Given the description of an element on the screen output the (x, y) to click on. 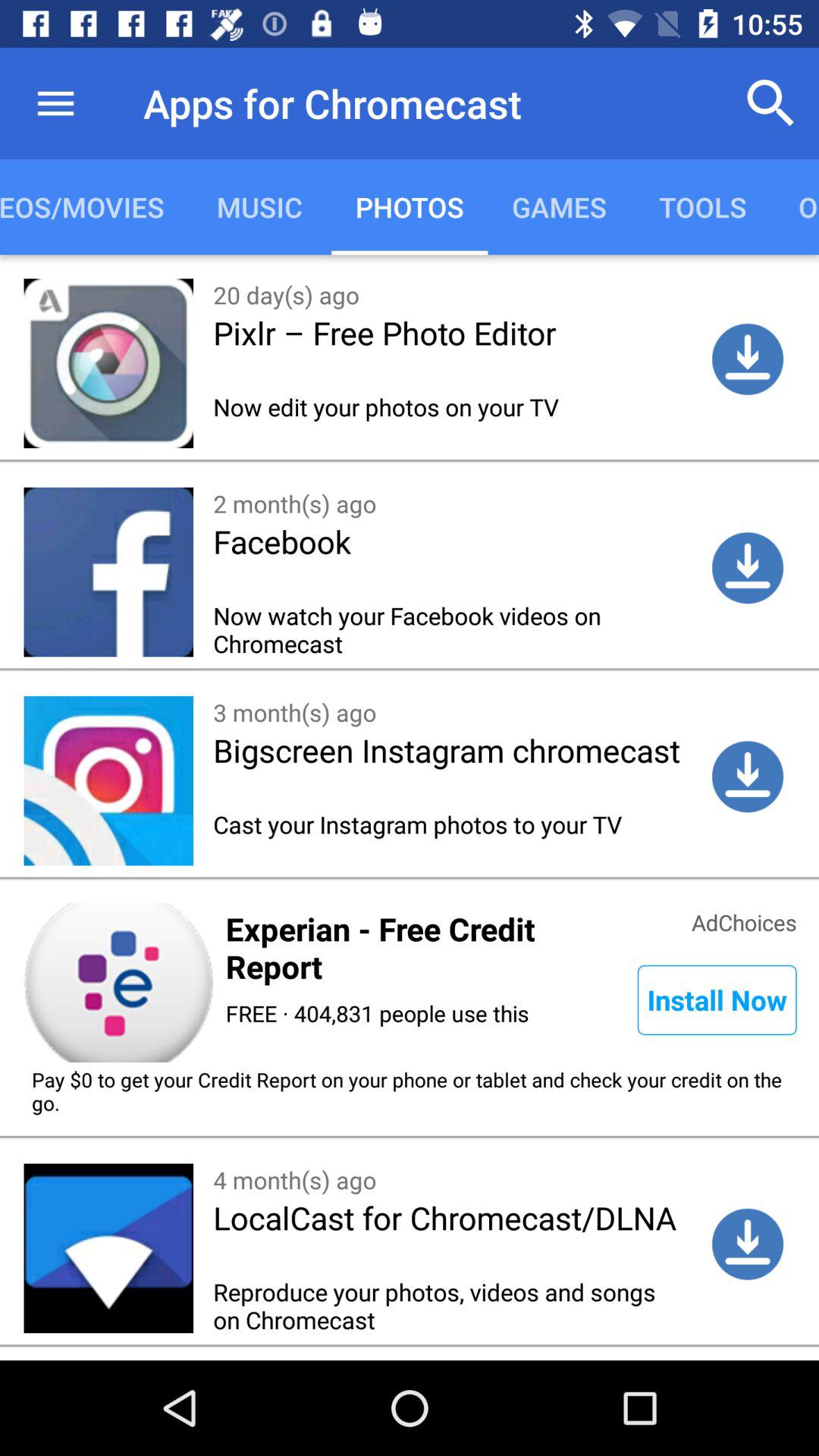
select the icon above videos/movies item (55, 103)
